Given the description of an element on the screen output the (x, y) to click on. 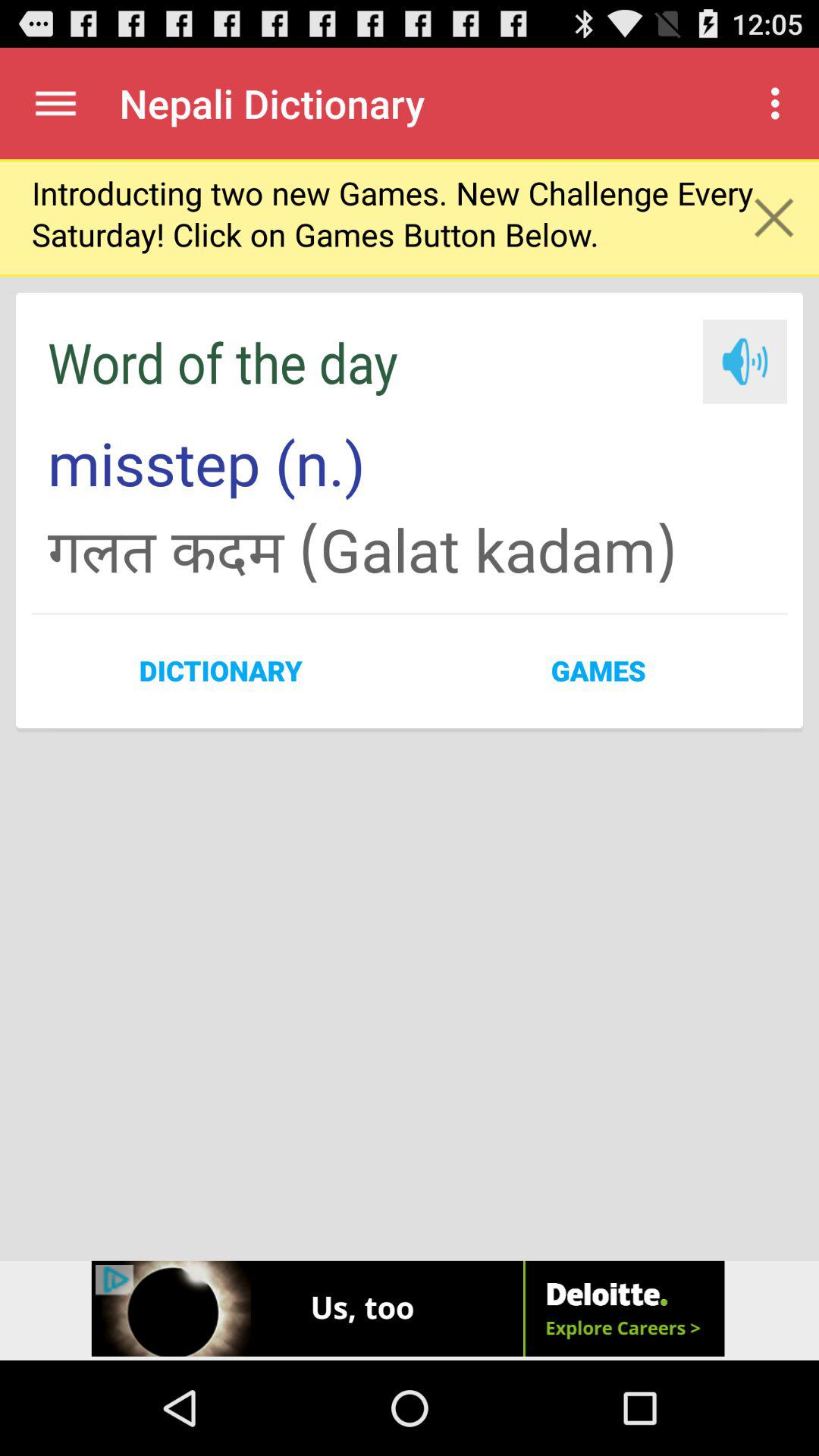
audio button (744, 361)
